Given the description of an element on the screen output the (x, y) to click on. 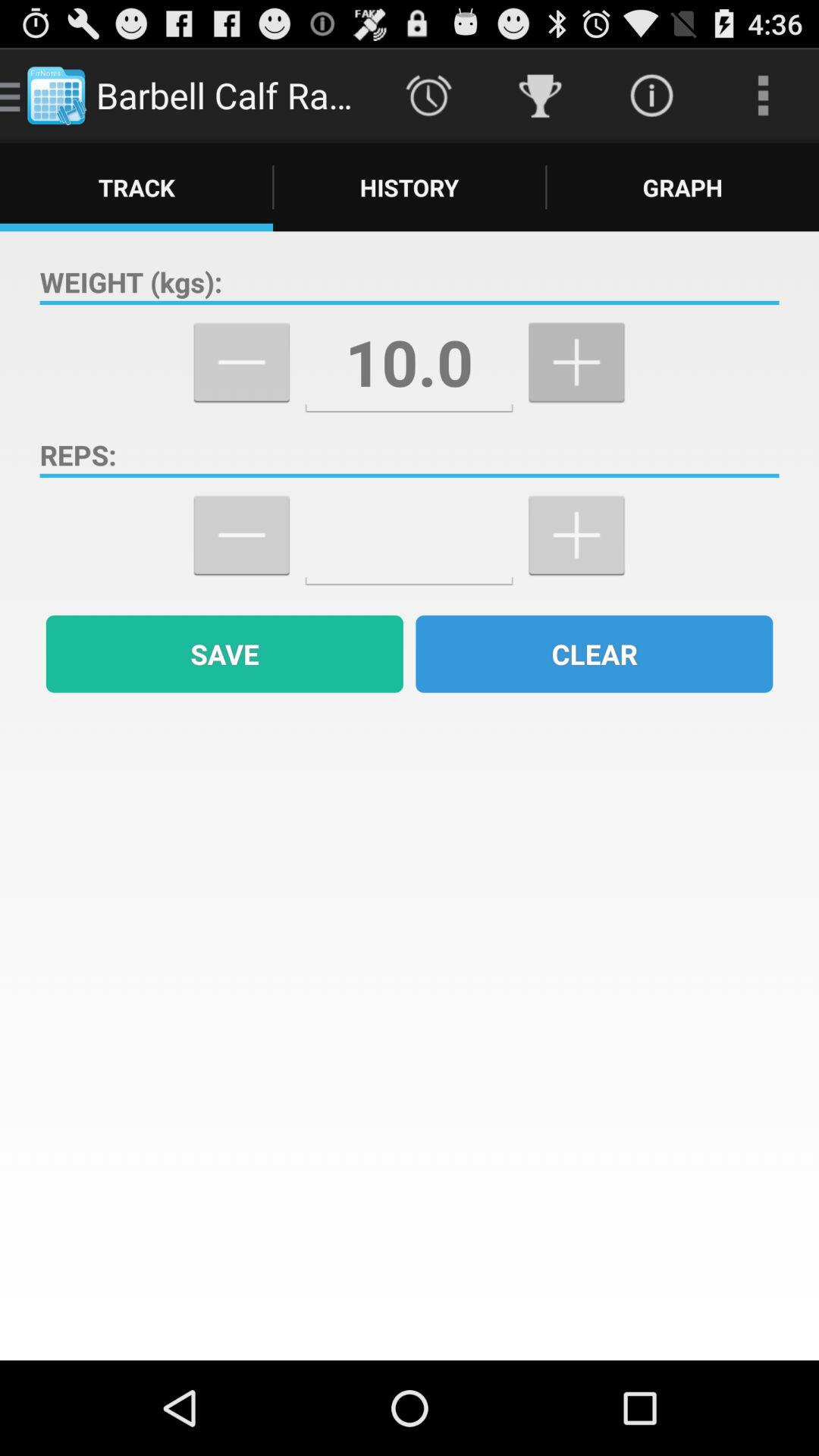
enter reps (408, 535)
